Given the description of an element on the screen output the (x, y) to click on. 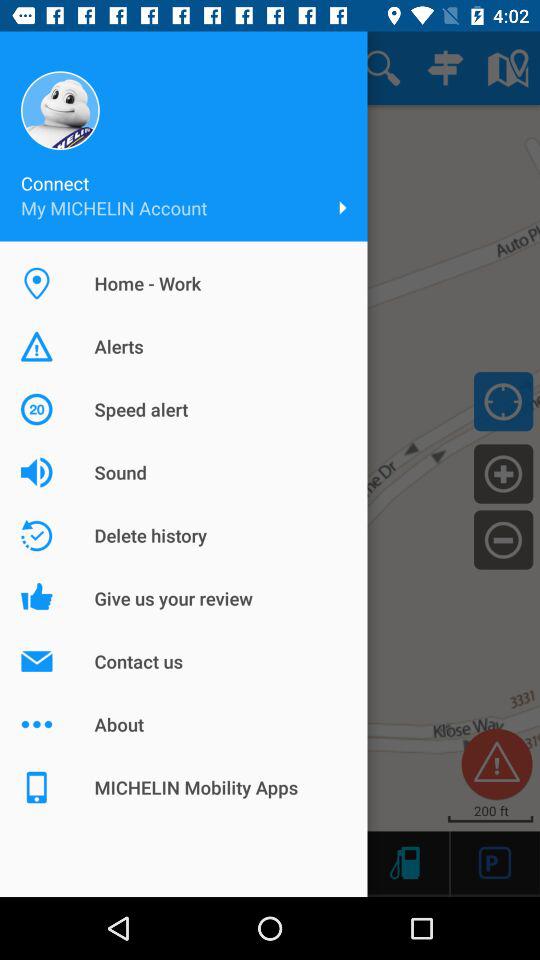
add a navigation entry (503, 473)
